Given the description of an element on the screen output the (x, y) to click on. 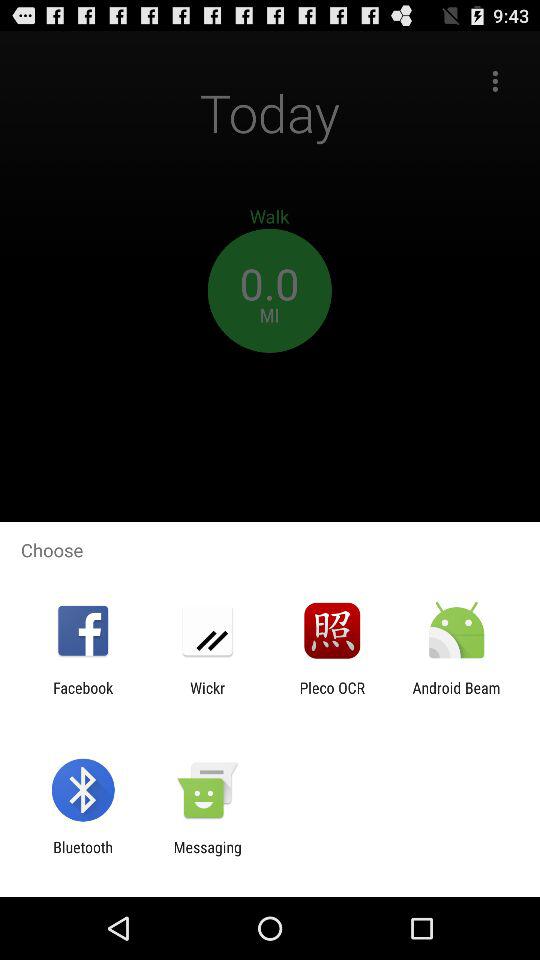
scroll until messaging app (207, 856)
